Given the description of an element on the screen output the (x, y) to click on. 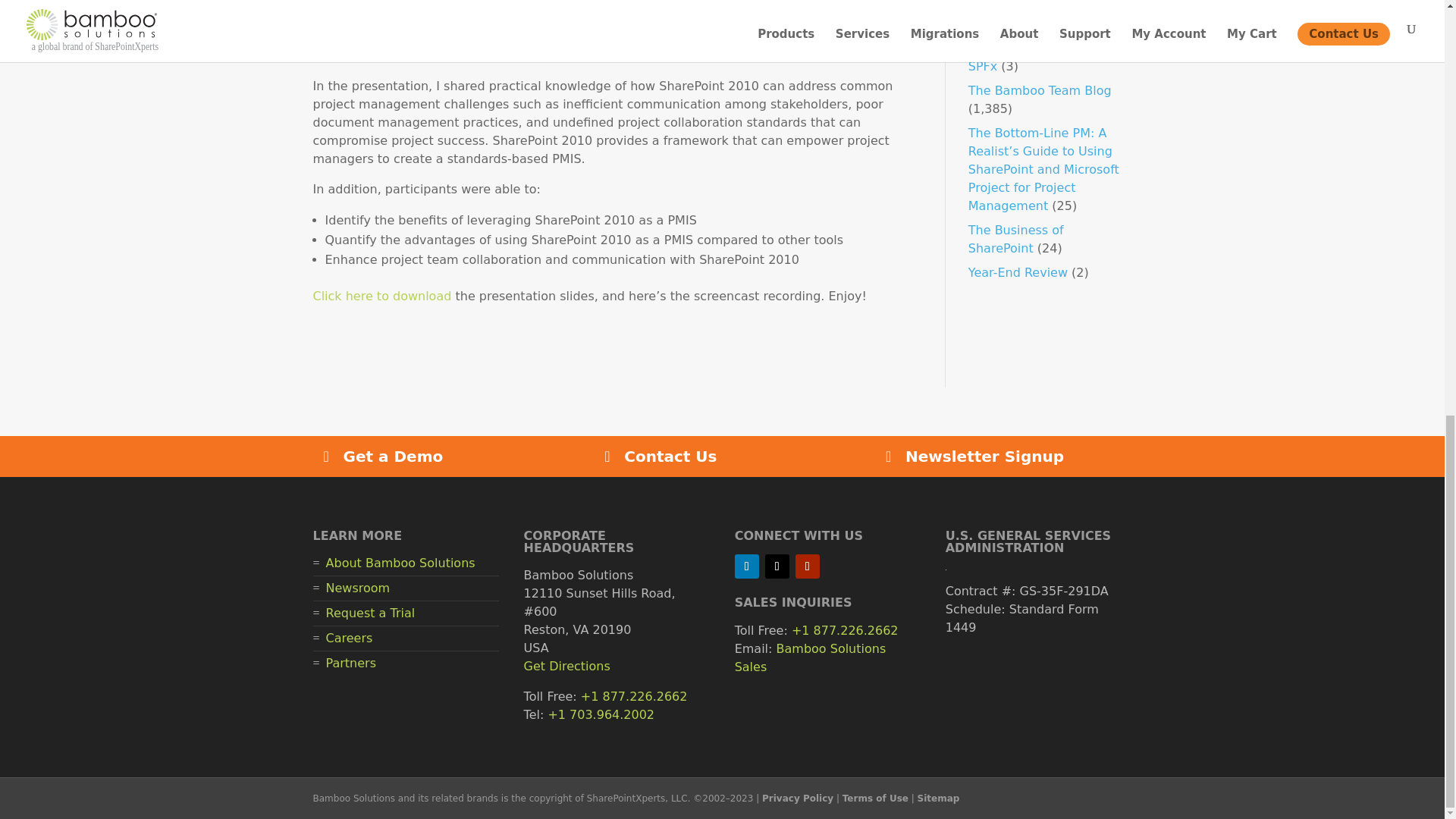
Follow on Youtube (806, 566)
Follow on LinkedIn (746, 566)
Follow on Twitter (777, 566)
